Given the description of an element on the screen output the (x, y) to click on. 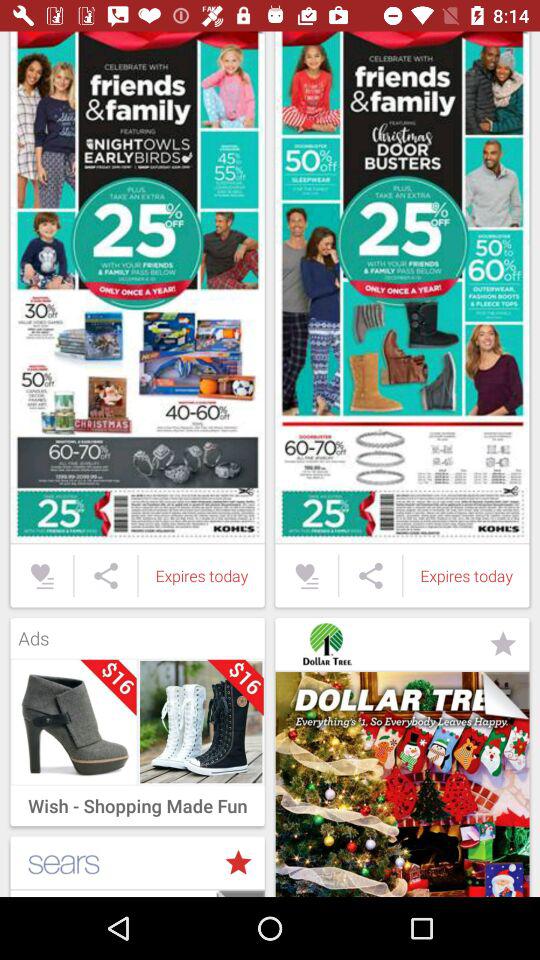
jump until wish shopping made item (137, 800)
